Given the description of an element on the screen output the (x, y) to click on. 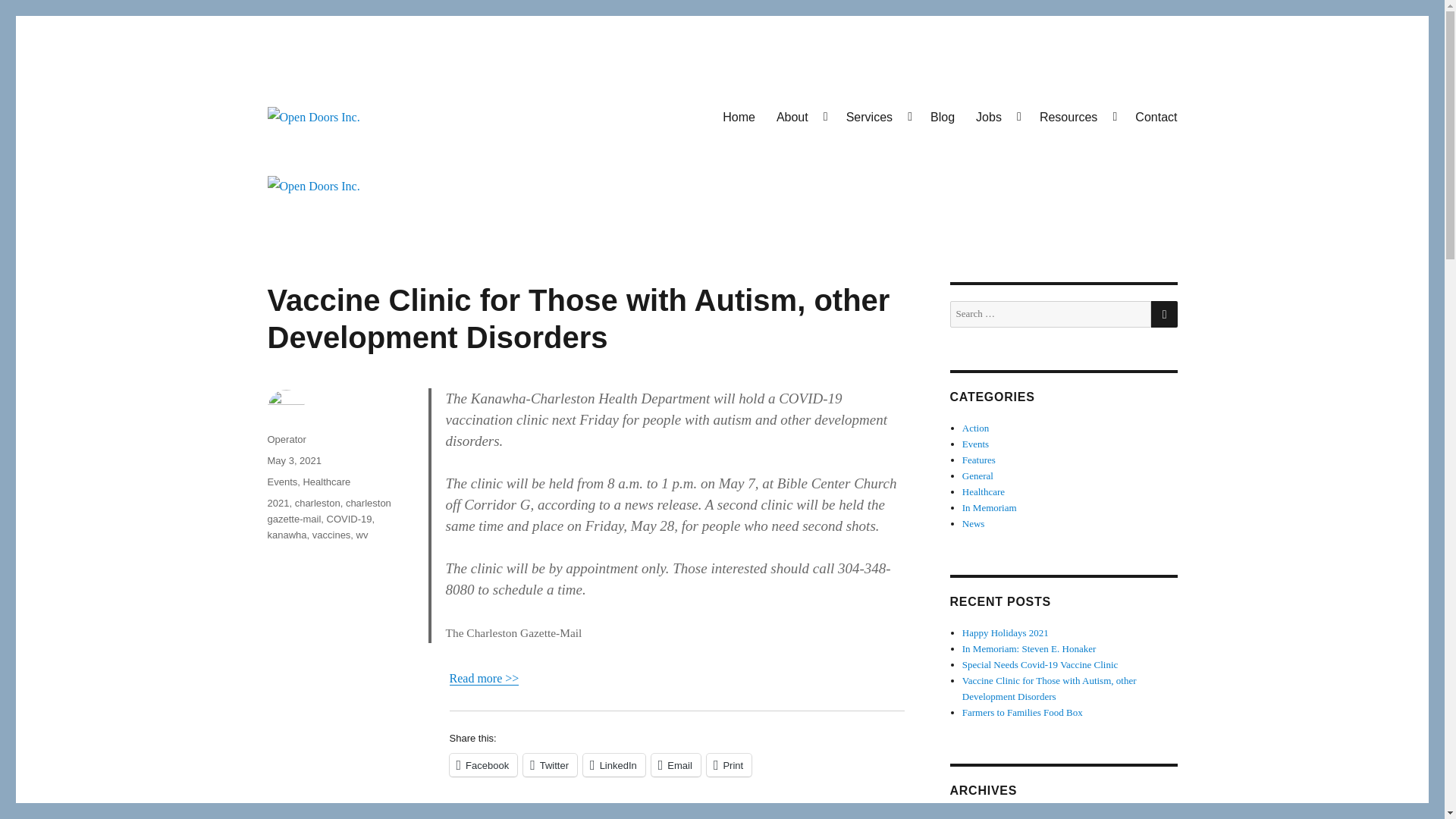
Open Doors Inc. (348, 151)
Blog (942, 116)
Click to share on Twitter (549, 764)
About (800, 116)
Print (728, 764)
Jobs (997, 116)
Resources (1076, 116)
Click to share on LinkedIn (614, 764)
Contact (1156, 116)
Twitter (549, 764)
Home (738, 116)
Click to print (728, 764)
Facebook (482, 764)
Services (877, 116)
Click to email a link to a friend (675, 764)
